Given the description of an element on the screen output the (x, y) to click on. 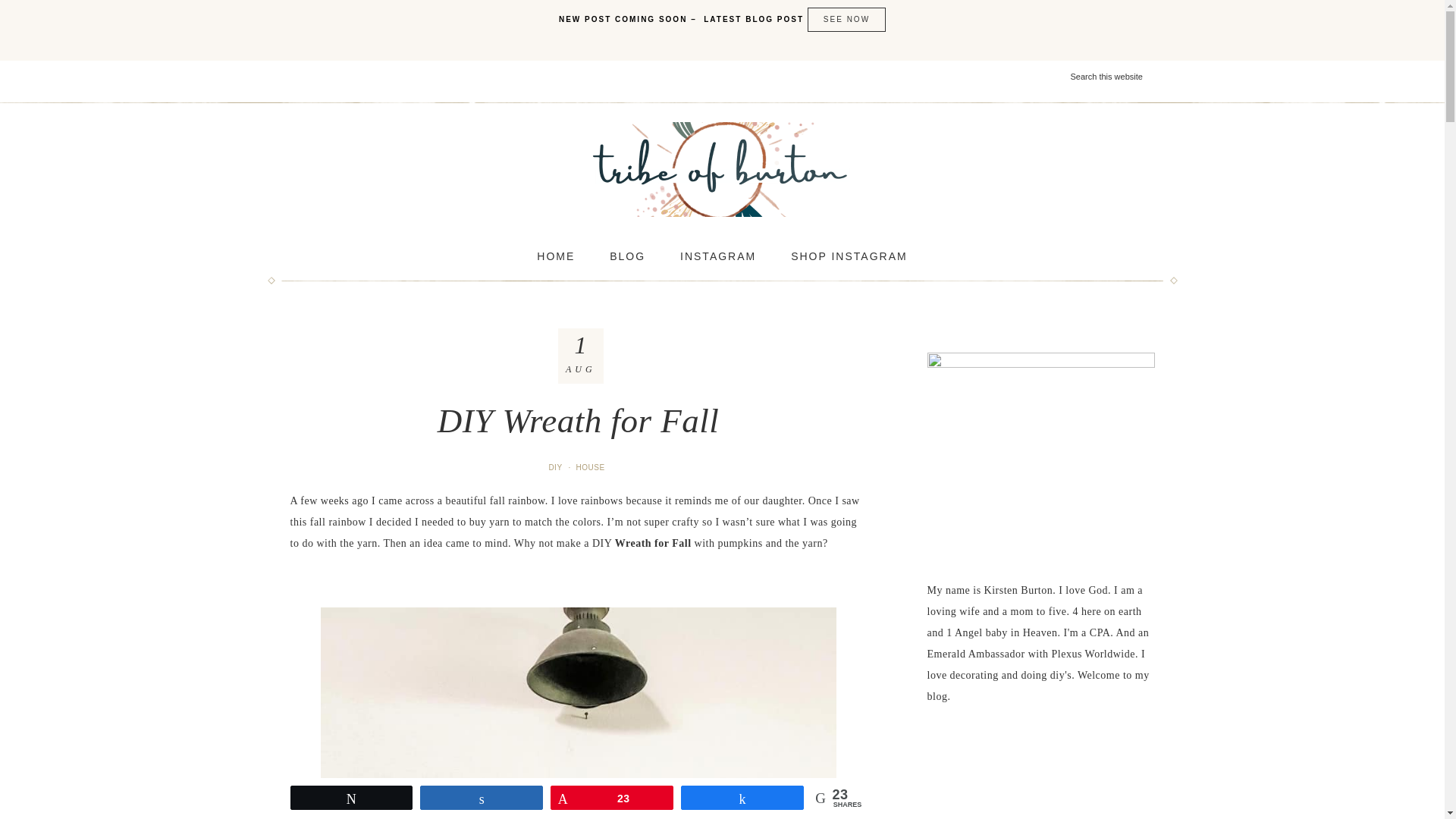
INSTAGRAM (718, 255)
SHOP INSTAGRAM (849, 255)
HOUSE (592, 467)
HOME (555, 255)
BLOG (627, 255)
DIY (555, 467)
SEE NOW (846, 19)
TRIBE OF BURTON (722, 169)
